Given the description of an element on the screen output the (x, y) to click on. 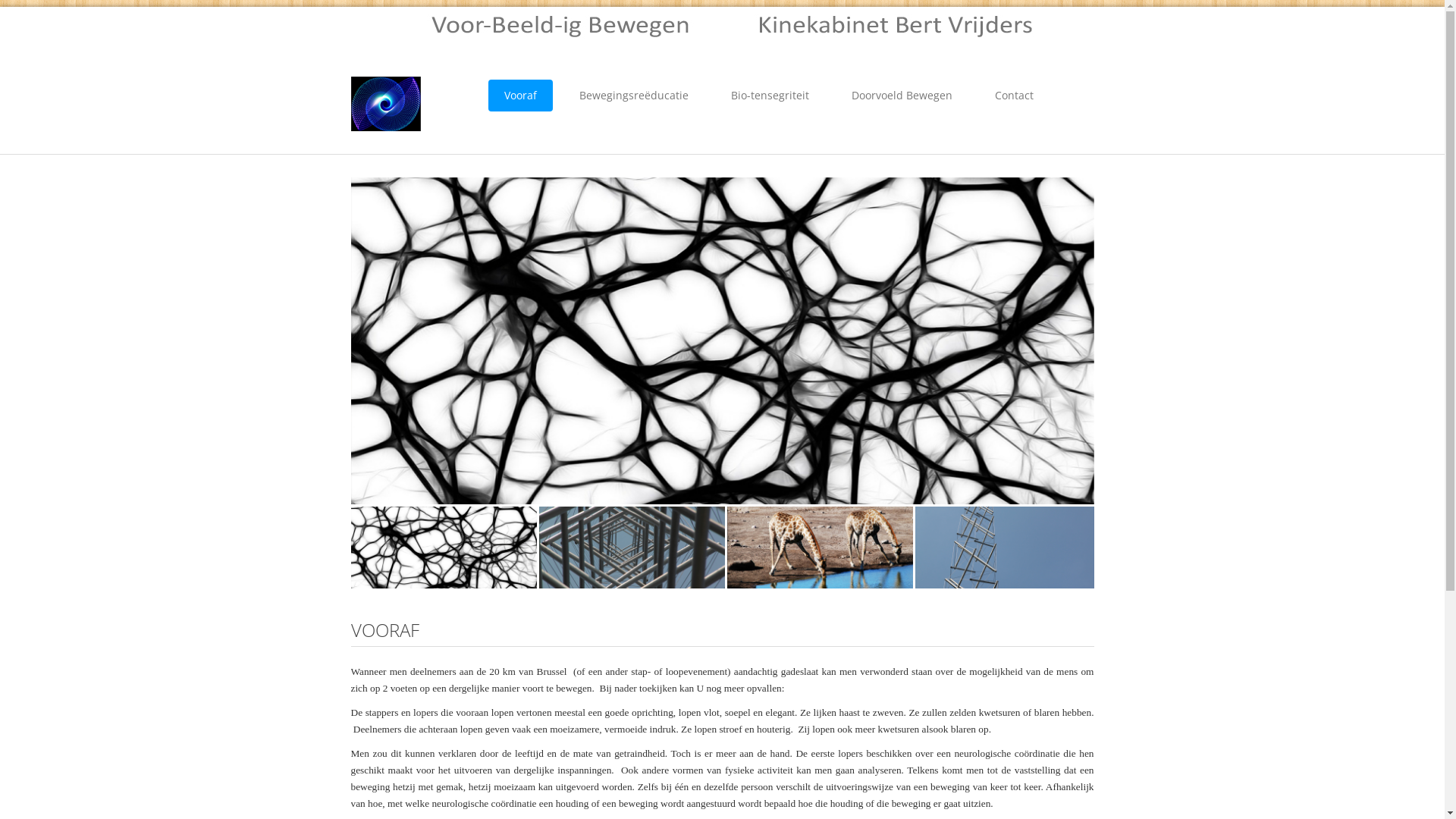
Bio-tensegriteit Element type: text (770, 95)
Next Element type: text (1070, 340)
Previous Element type: text (374, 340)
Contact Element type: text (1014, 95)
Doorvoeld Bewegen Element type: text (901, 95)
Next Element type: text (1070, 547)
Previous Element type: text (374, 547)
Vooraf Element type: text (520, 95)
